Given the description of an element on the screen output the (x, y) to click on. 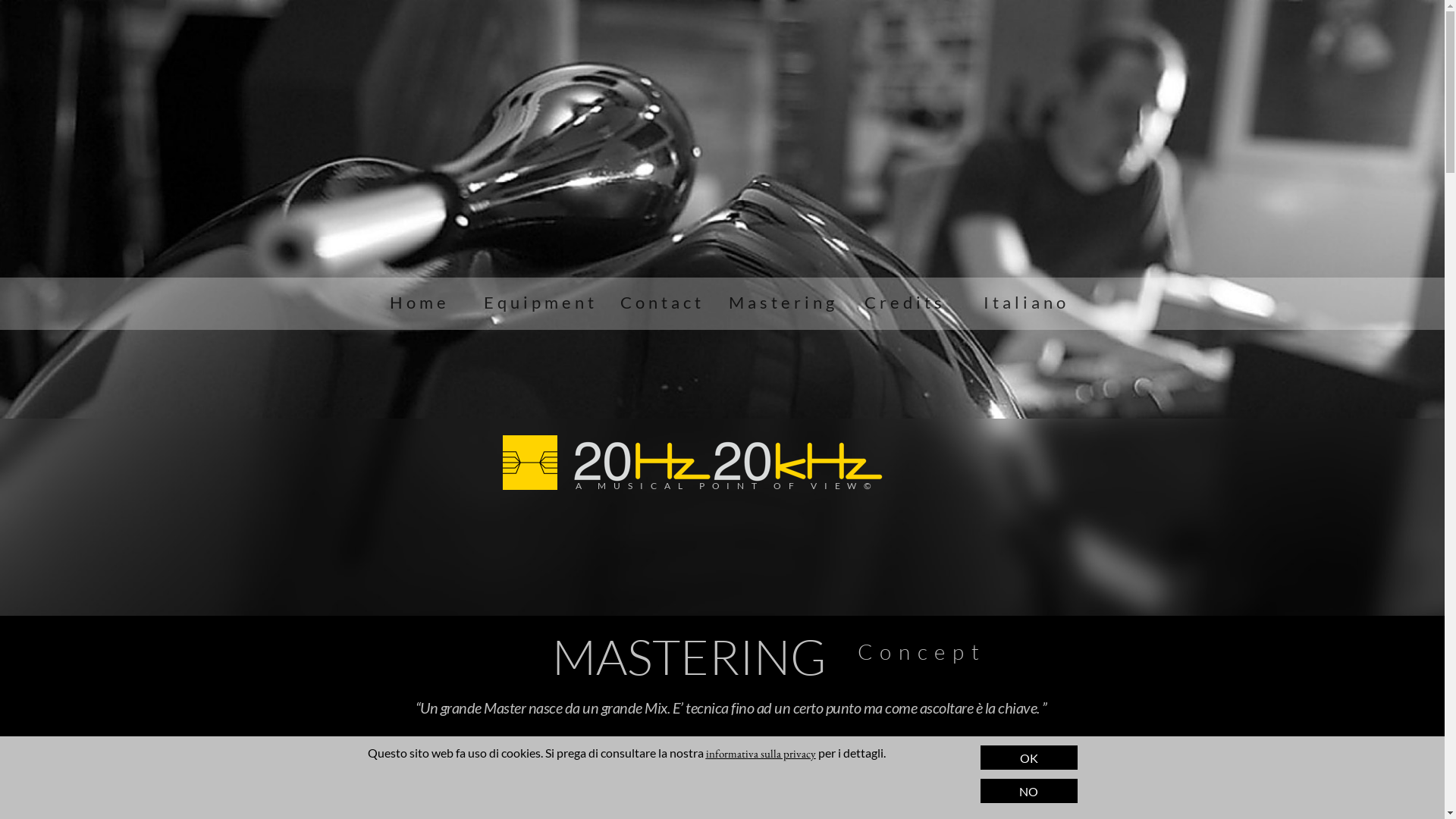
OK Element type: text (1027, 757)
informativa sulla privacy Element type: text (760, 753)
NO Element type: text (1027, 790)
